Given the description of an element on the screen output the (x, y) to click on. 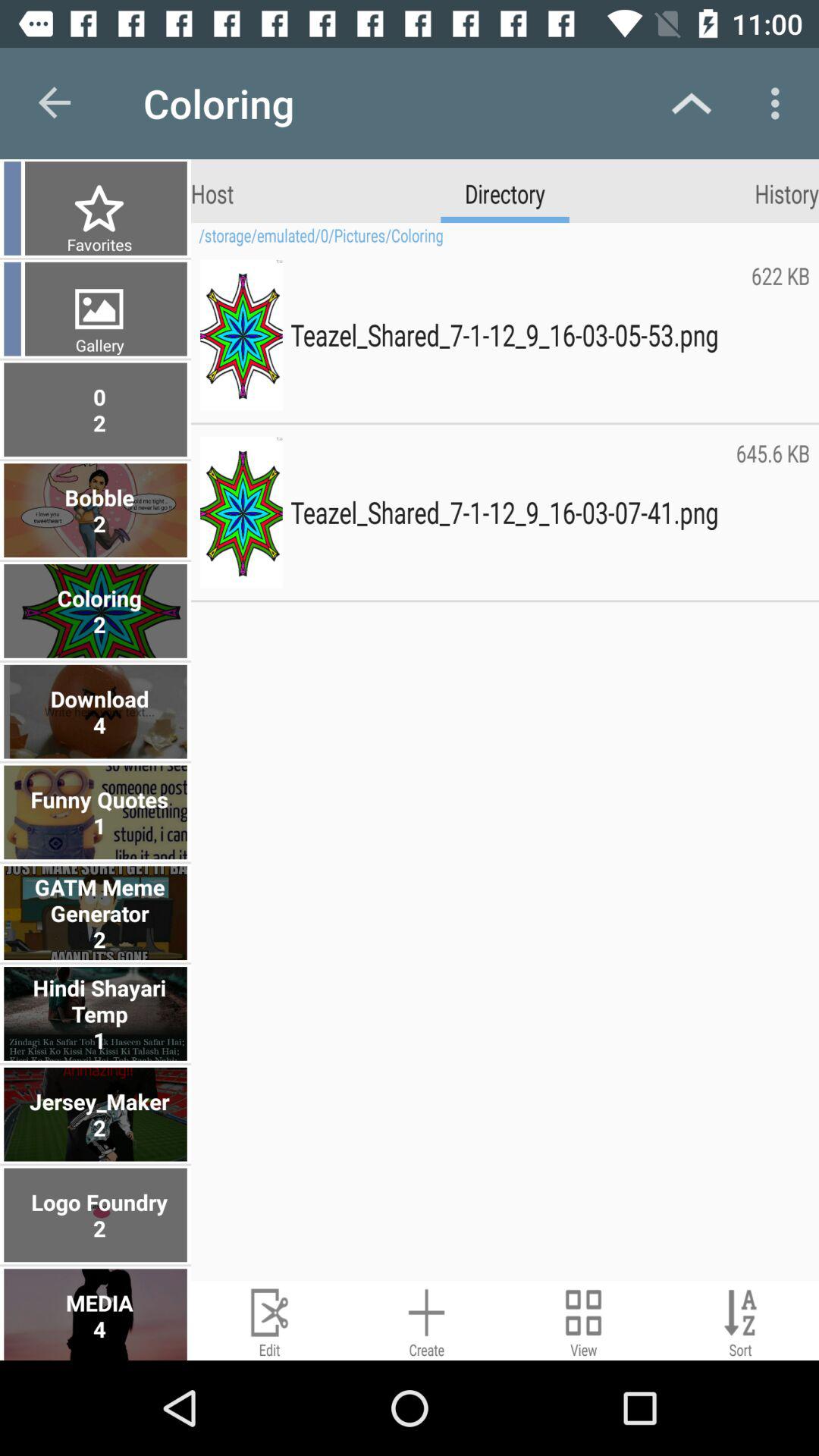
choose item next to the storage emulated 0 item (97, 244)
